Given the description of an element on the screen output the (x, y) to click on. 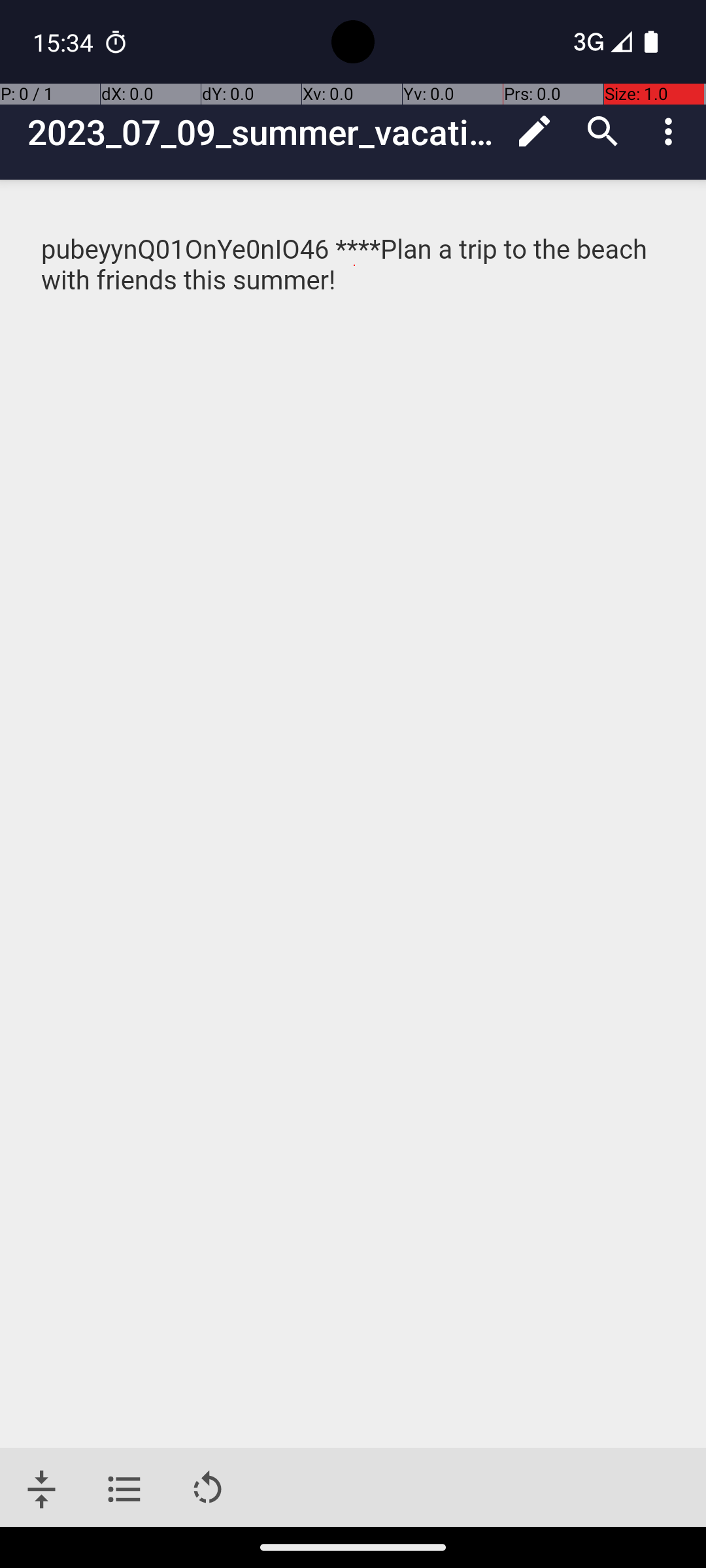
2023_07_09_summer_vacation_plans Element type: android.widget.TextView (263, 131)
pubeyynQ01OnYe0nIO46 ****Plan a trip to the beach with friends this summer! Element type: android.widget.TextView (354, 264)
